Given the description of an element on the screen output the (x, y) to click on. 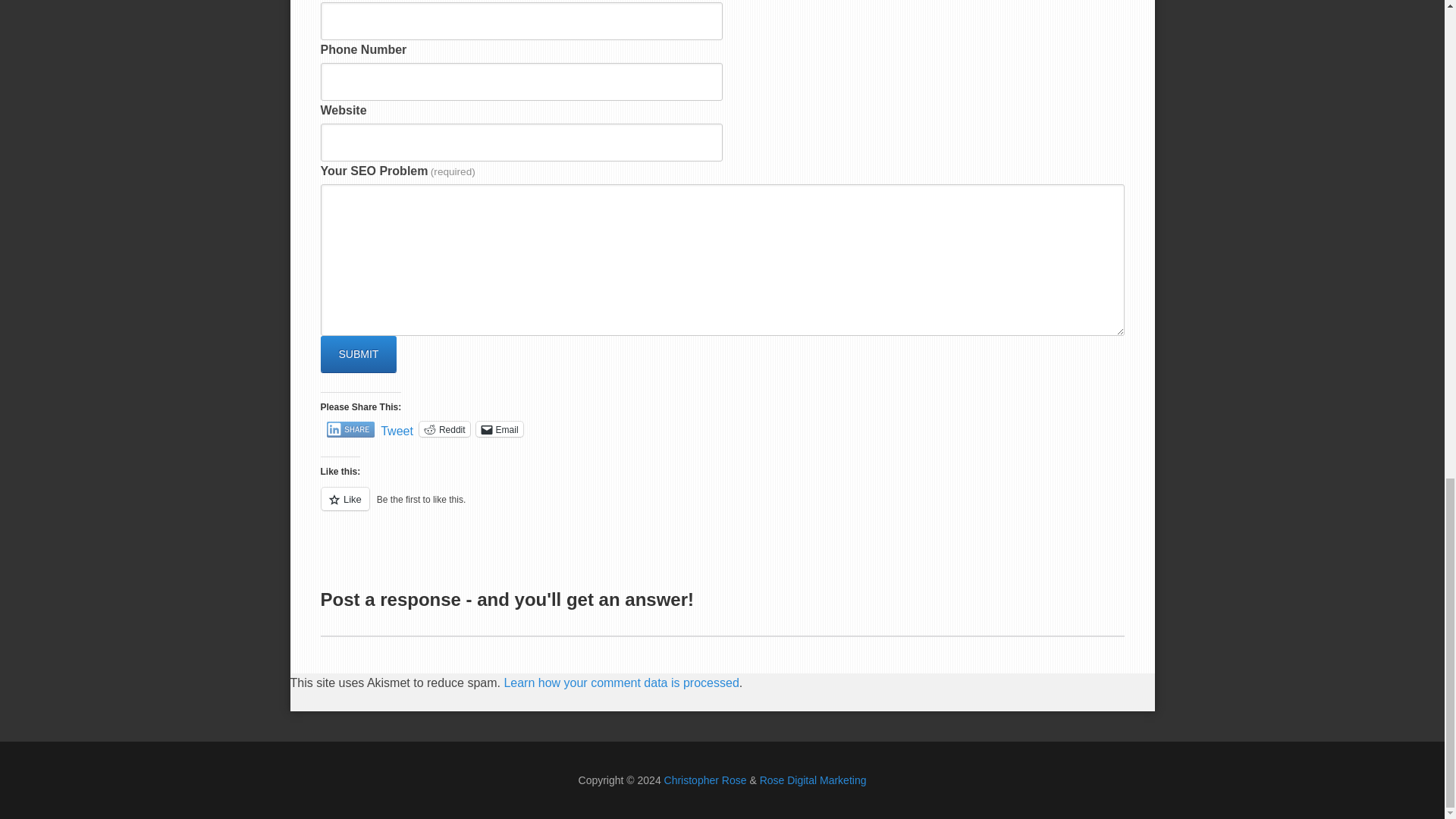
Reddit (444, 428)
Like or Reblog (722, 507)
SHARE (350, 428)
Email (499, 428)
Click to share on Reddit (444, 428)
SUBMIT (358, 353)
Learn how your comment data is processed (620, 682)
Christopher Rose (704, 779)
Rose Digital Marketing (813, 779)
Tweet (396, 427)
Click to email a link to a friend (499, 428)
